Given the description of an element on the screen output the (x, y) to click on. 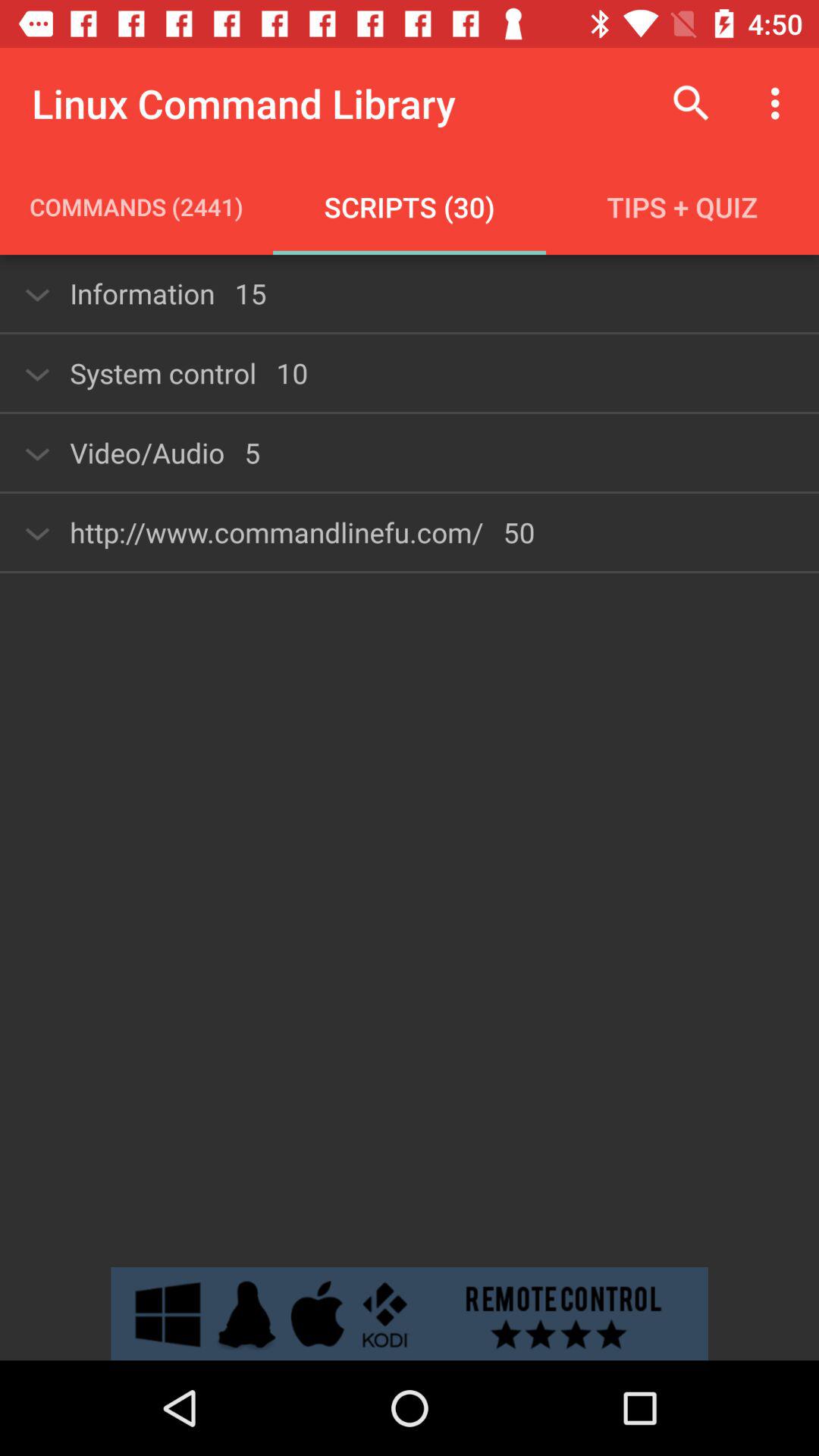
press the icon to the right of linux command library (691, 103)
